Given the description of an element on the screen output the (x, y) to click on. 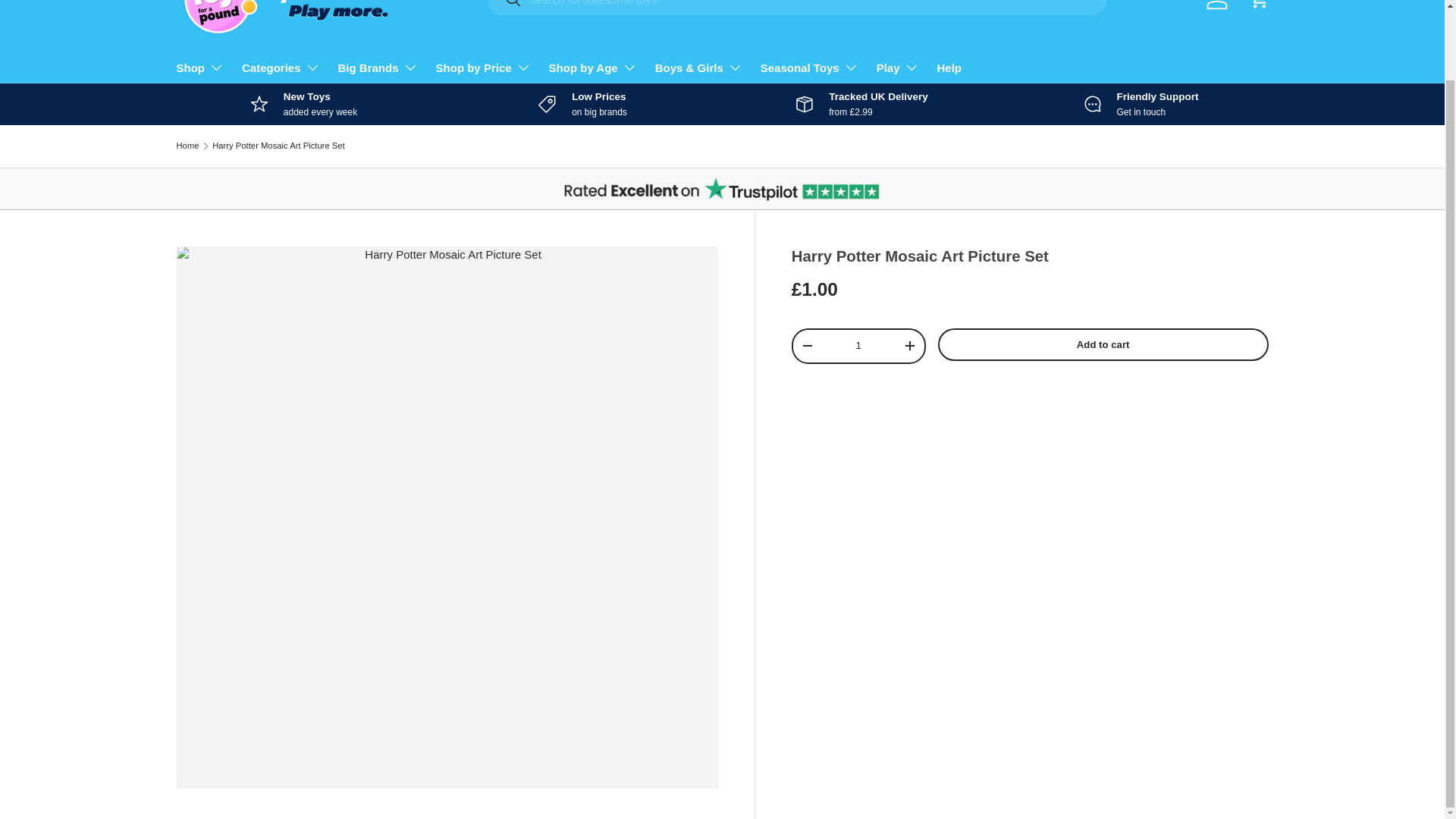
Cart (1258, 7)
Search (504, 8)
Log in (1216, 7)
1 (858, 345)
Shop (200, 67)
Categories (280, 67)
Big Brands (377, 67)
